Given the description of an element on the screen output the (x, y) to click on. 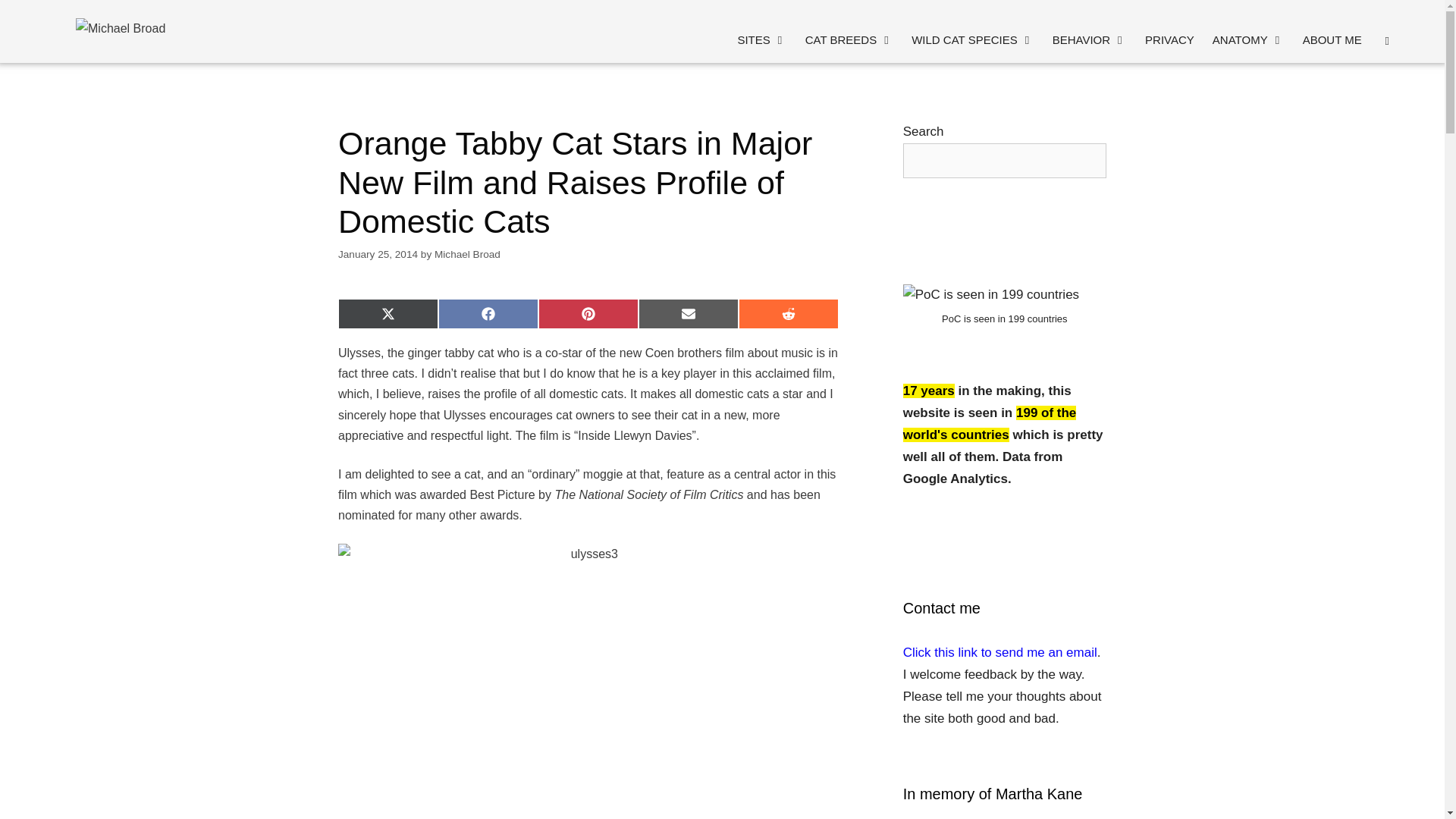
All the cat breeds fully discussed and illustrated (849, 40)
All the wild cat species listed (972, 40)
WILD CAT SPECIES (972, 40)
CAT BREEDS (849, 40)
BEHAVIOR (1089, 40)
SITES (761, 40)
